Given the description of an element on the screen output the (x, y) to click on. 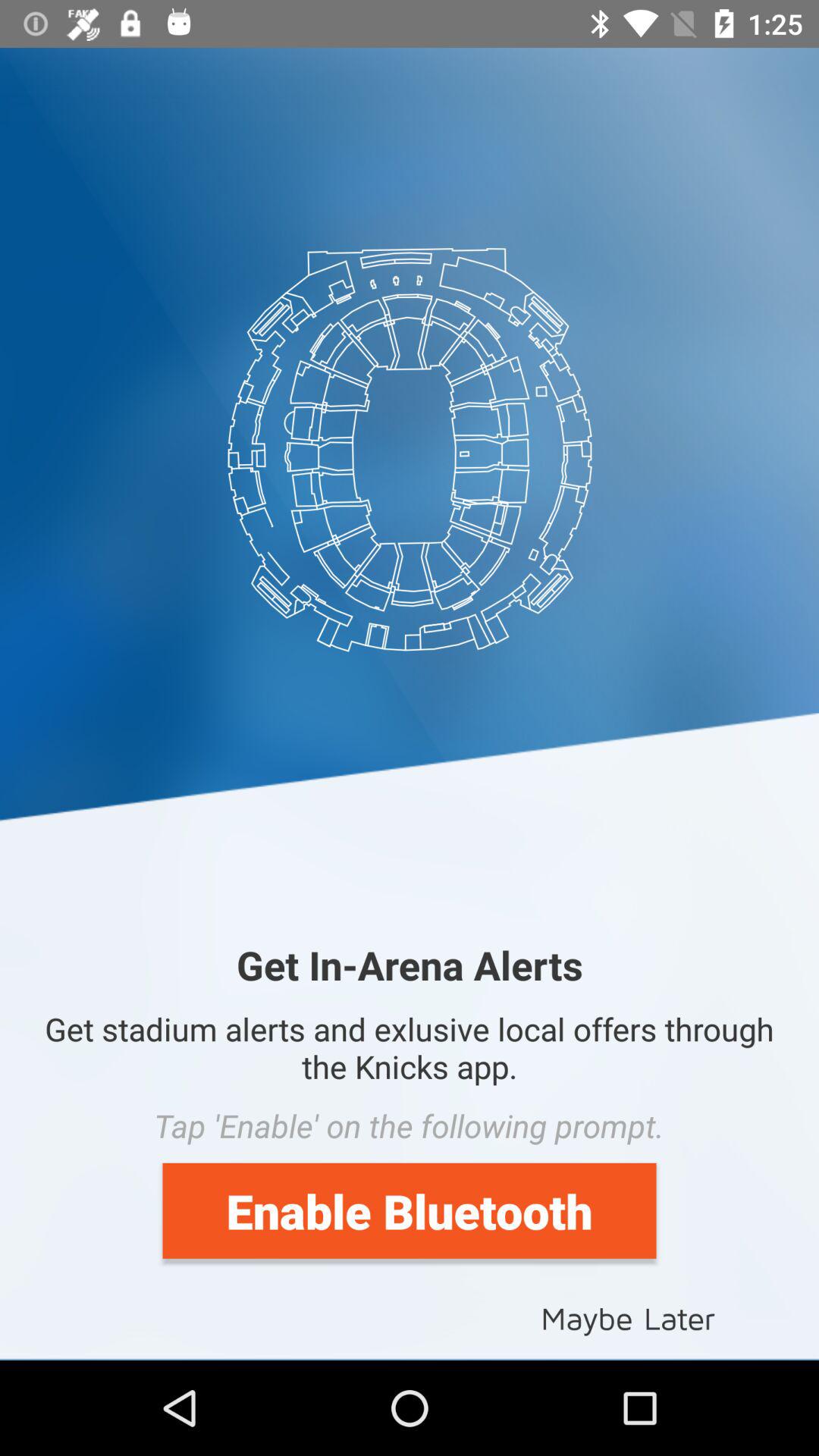
jump until the maybe later icon (627, 1317)
